Given the description of an element on the screen output the (x, y) to click on. 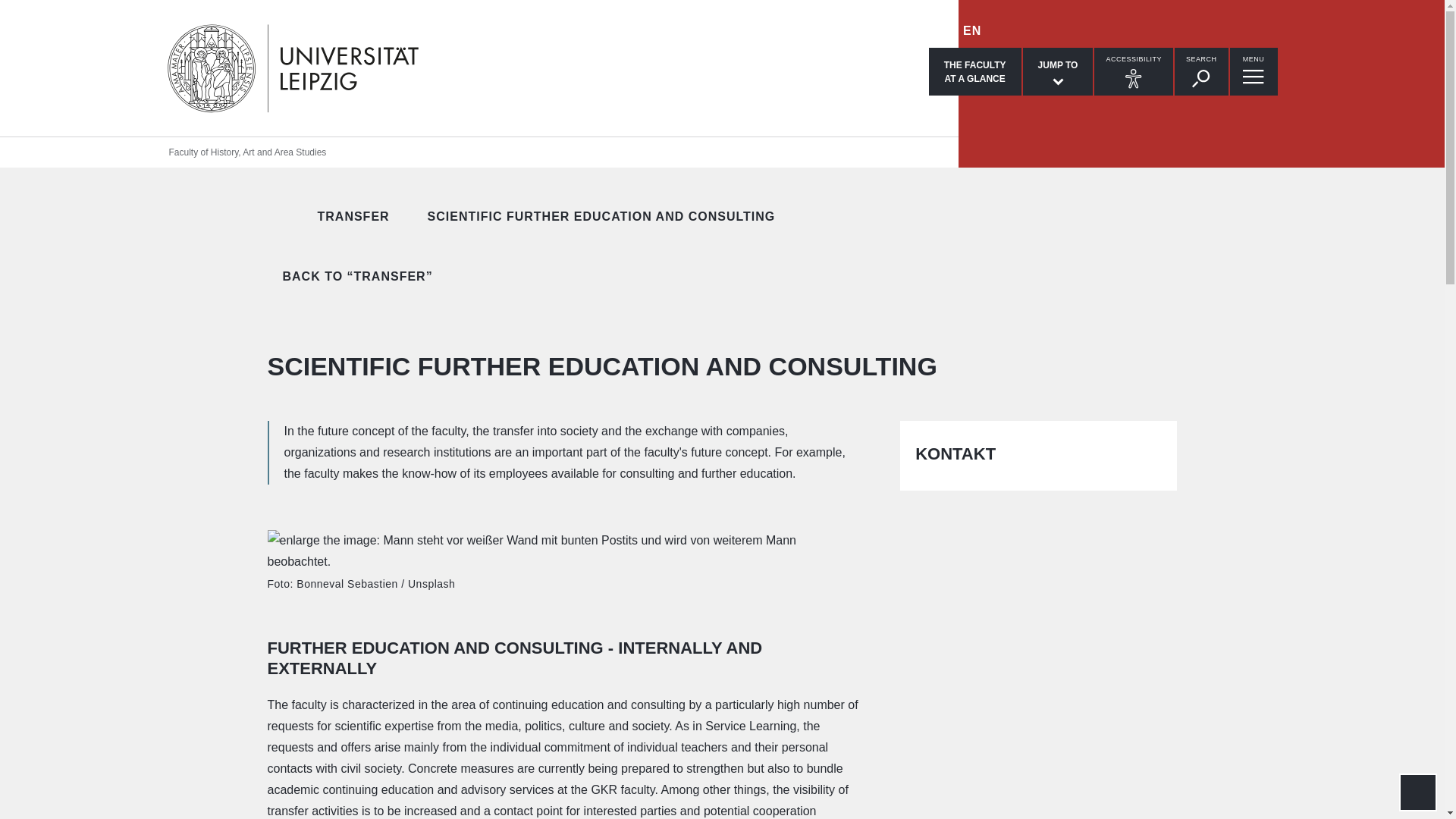
MENU (1254, 71)
ACCESSIBILITY (1133, 71)
EN (975, 71)
Scientific further education and consulting (971, 30)
Faculty of History, Art and Area Studies (583, 216)
JUMP TO (272, 216)
DE (1058, 71)
Transfer (937, 30)
SEARCH (333, 216)
